Given the description of an element on the screen output the (x, y) to click on. 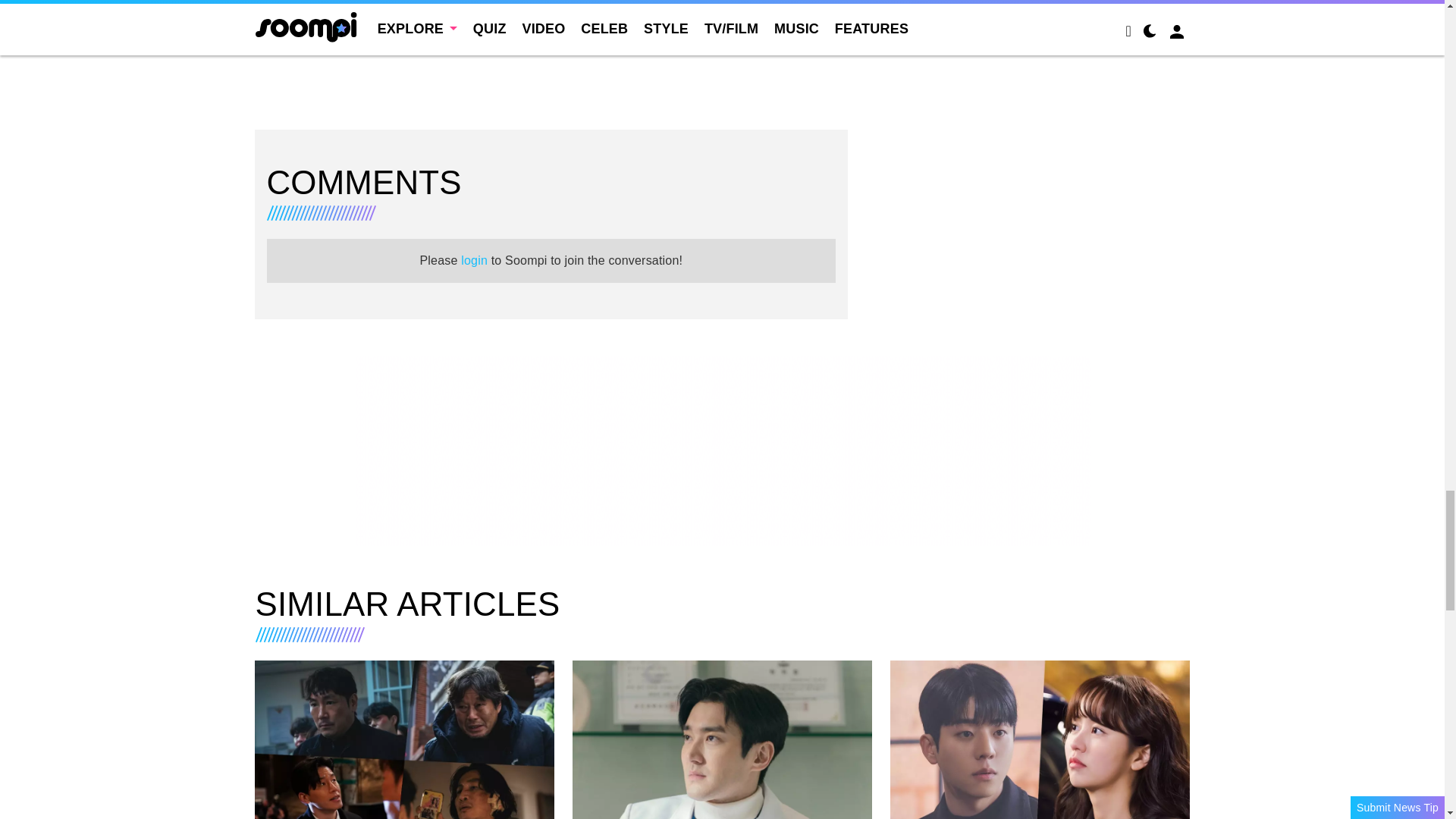
3rd party ad content (551, 25)
